Given the description of an element on the screen output the (x, y) to click on. 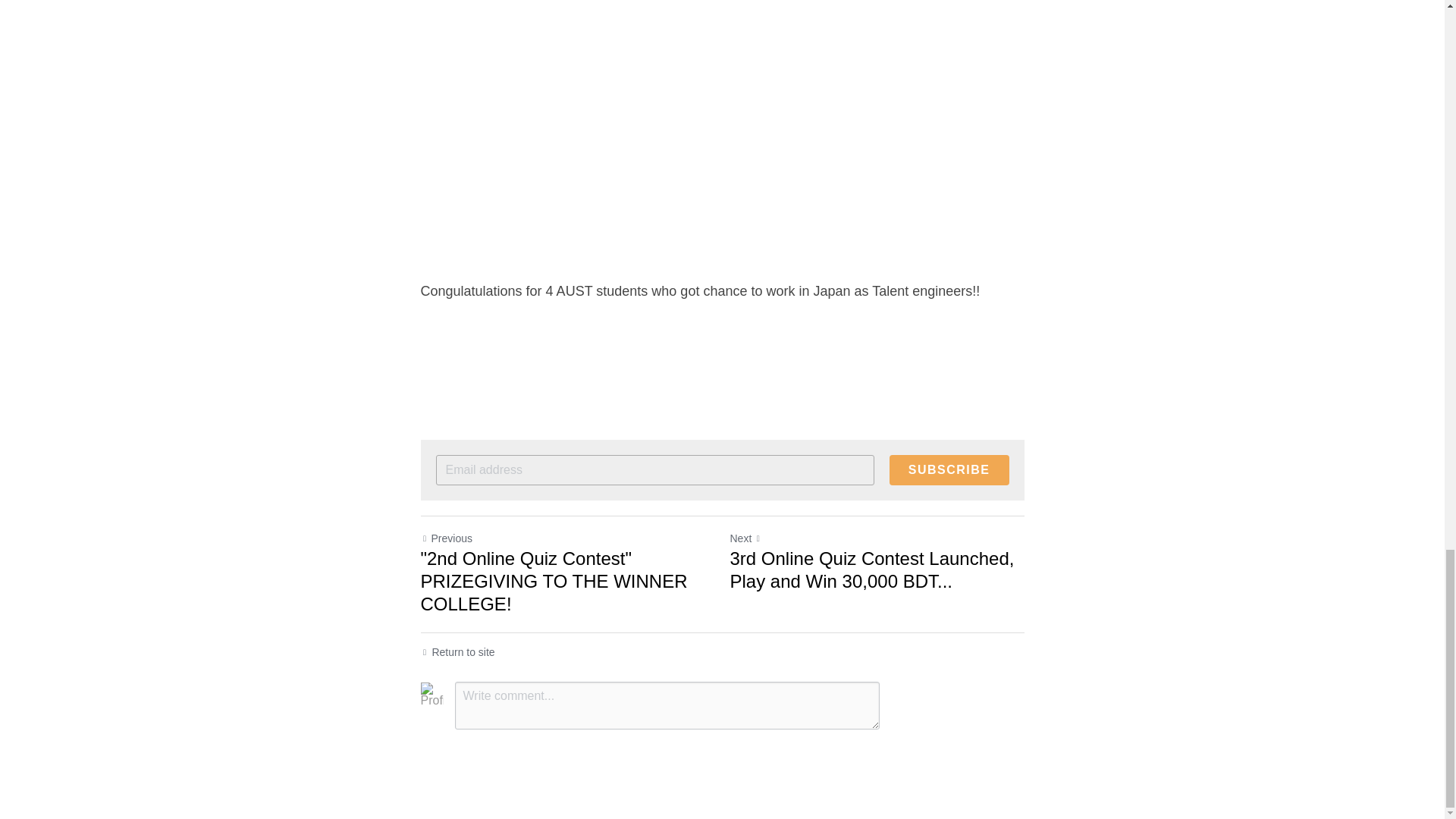
 Return to site (457, 652)
Previous (445, 538)
3rd Online Quiz Contest Launched, Play and Win 30,000 BDT... (876, 569)
Next (745, 538)
"2nd Online Quiz Contest" PRIZEGIVING TO THE WINNER COLLEGE! (567, 581)
